Given the description of an element on the screen output the (x, y) to click on. 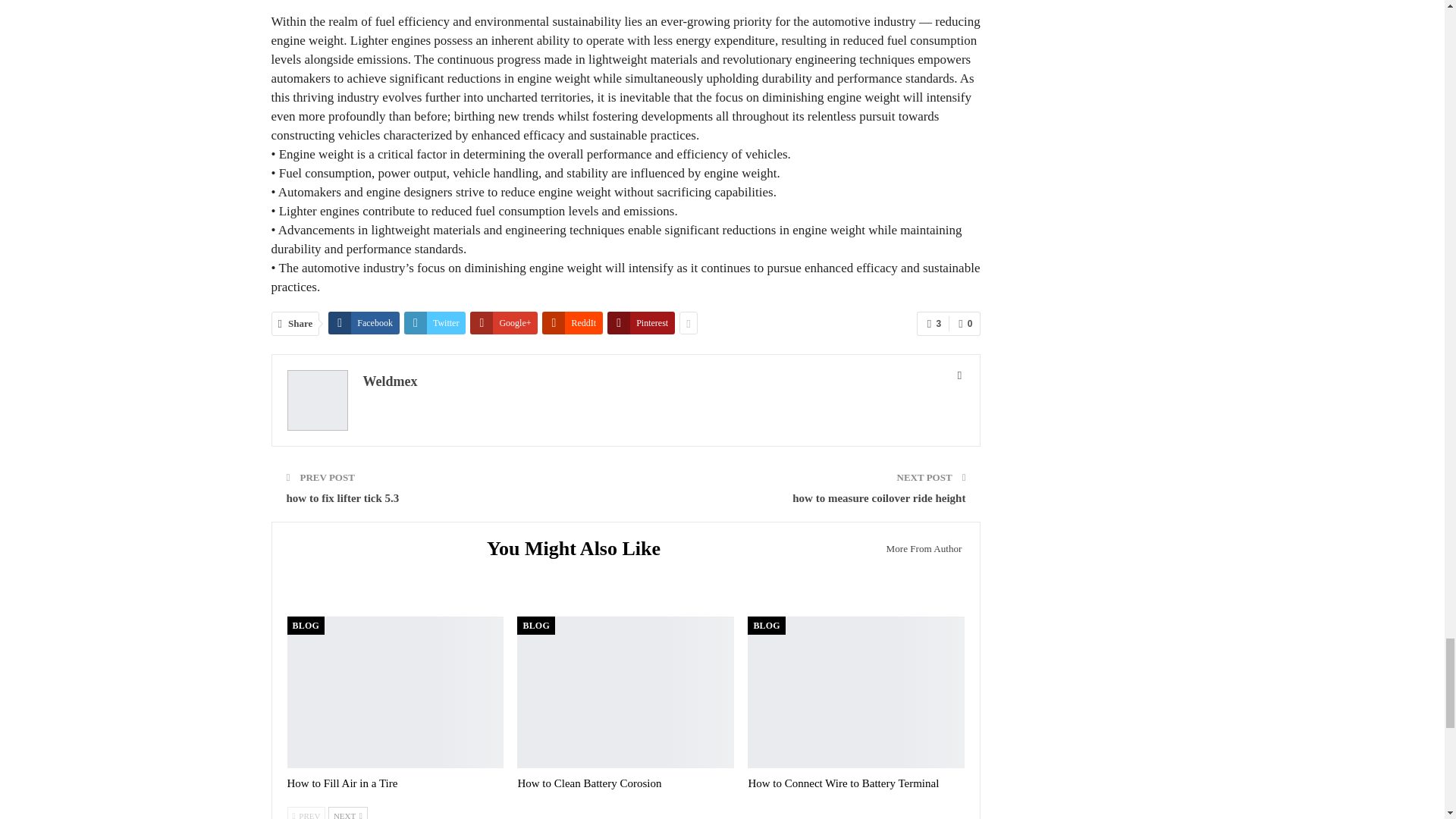
Pinterest (641, 323)
How to Clean Battery Corosion (624, 692)
Weldmex (389, 381)
How to Connect Wire to Battery Terminal (855, 692)
Twitter (434, 323)
Facebook (363, 323)
ReddIt (571, 323)
How to Fill Air in a Tire (341, 783)
how to fix lifter tick 5.3 (342, 498)
BLOG (304, 625)
how to measure coilover ride height (878, 498)
How to Fill Air in a Tire (394, 692)
More From Author (919, 548)
0 (964, 323)
How to Clean Battery Corosion (588, 783)
